Given the description of an element on the screen output the (x, y) to click on. 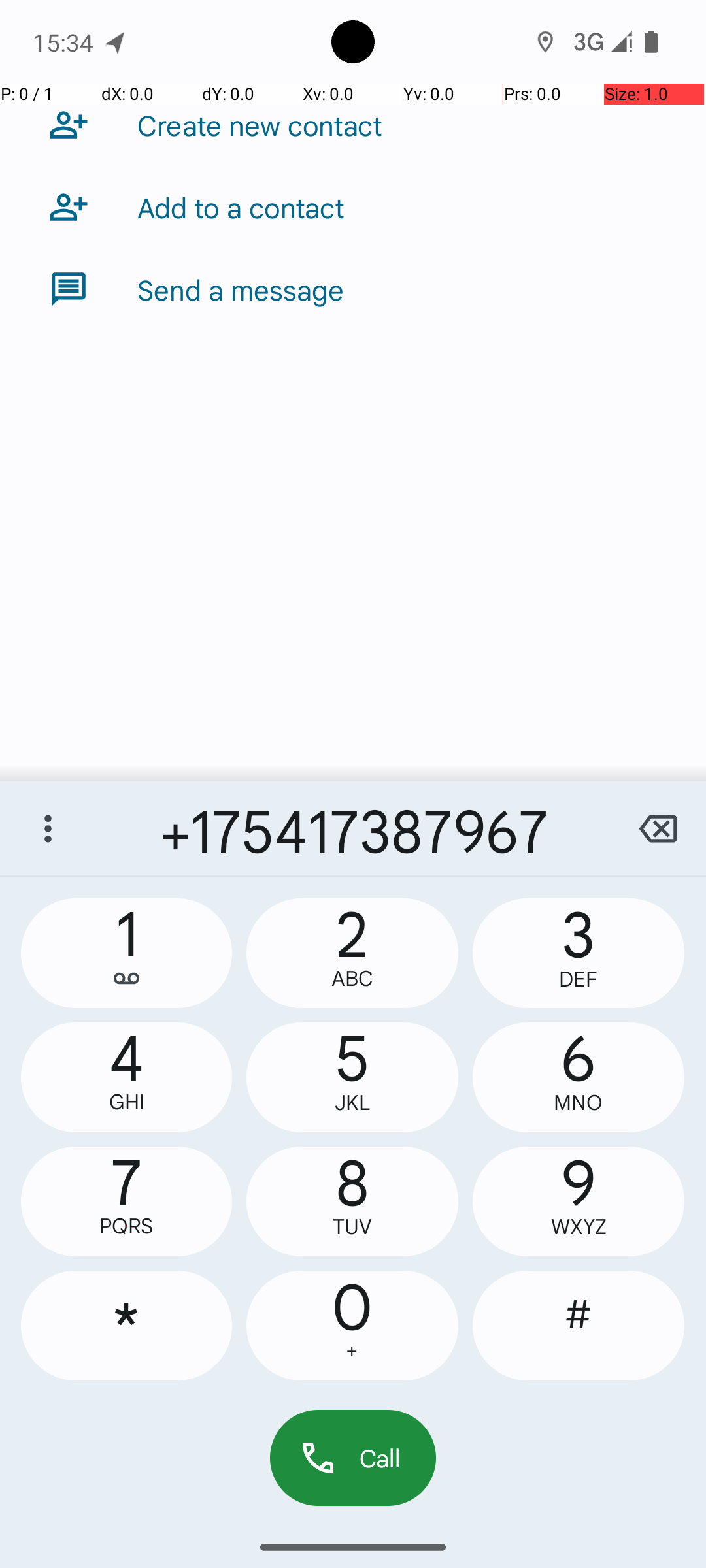
Call Element type: android.widget.Button (352, 1457)
+175417387967 Element type: android.widget.EditText (352, 828)
backspace Element type: android.widget.ImageButton (657, 828)
1, Element type: android.widget.FrameLayout (126, 953)
2,ABC Element type: android.widget.FrameLayout (352, 953)
3,DEF Element type: android.widget.FrameLayout (578, 953)
4,GHI Element type: android.widget.FrameLayout (126, 1077)
5,JKL Element type: android.widget.FrameLayout (352, 1077)
6,MNO Element type: android.widget.FrameLayout (578, 1077)
7,PQRS Element type: android.widget.FrameLayout (126, 1201)
8,TUV Element type: android.widget.FrameLayout (352, 1201)
9,WXYZ Element type: android.widget.FrameLayout (578, 1201)
* Element type: android.widget.FrameLayout (126, 1325)
ABC Element type: android.widget.TextView (351, 978)
DEF Element type: android.widget.TextView (578, 978)
GHI Element type: android.widget.TextView (126, 1101)
JKL Element type: android.widget.TextView (351, 1102)
MNO Element type: android.widget.TextView (578, 1102)
PQRS Element type: android.widget.TextView (126, 1225)
TUV Element type: android.widget.TextView (351, 1226)
WXYZ Element type: android.widget.TextView (578, 1226)
+ Element type: android.widget.TextView (351, 1351)
Create new contact Element type: android.widget.TextView (260, 124)
Add to a contact Element type: android.widget.TextView (240, 206)
Send a message Element type: android.widget.TextView (240, 289)
